Given the description of an element on the screen output the (x, y) to click on. 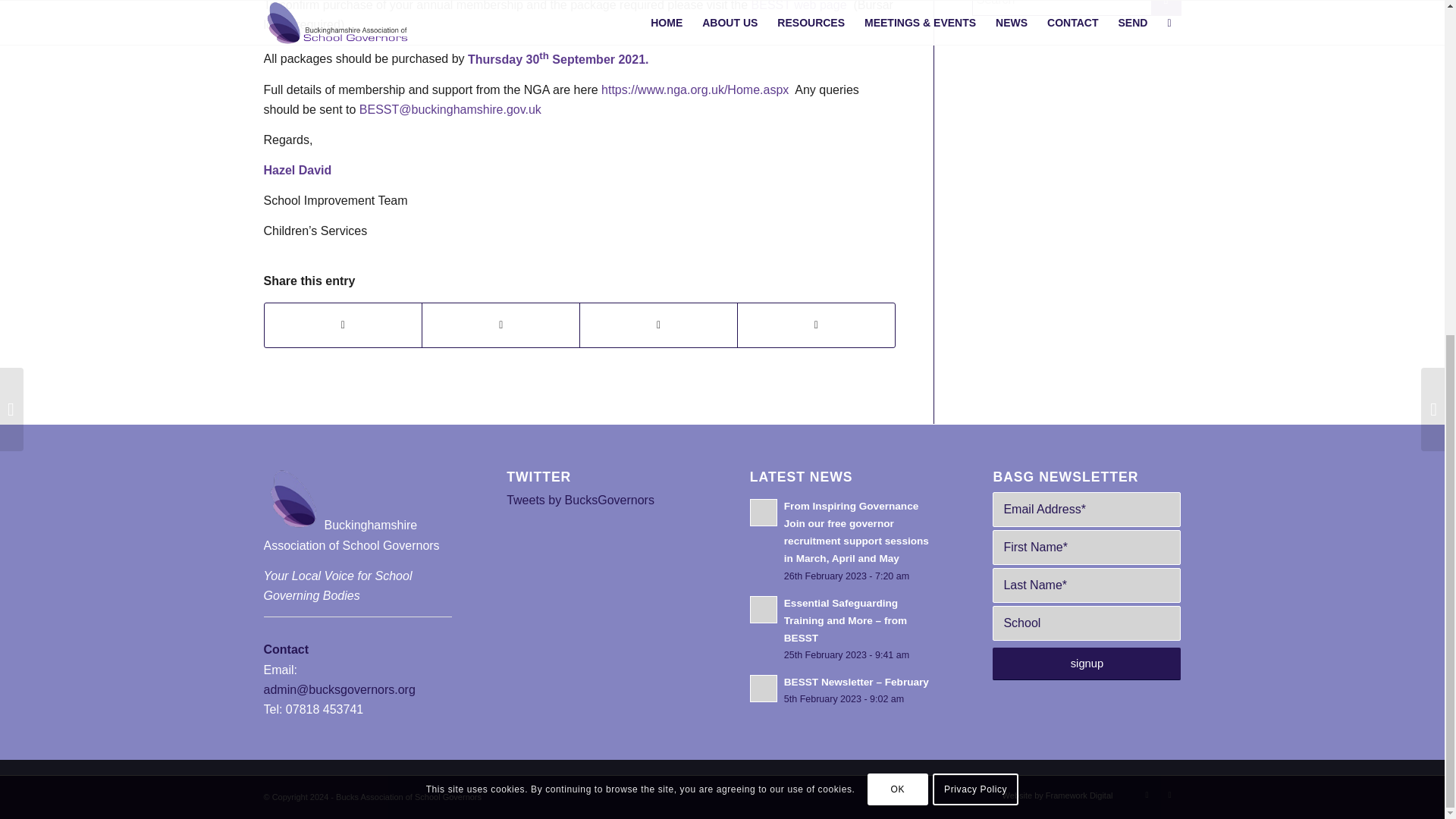
Facebook (1169, 793)
BESST web page (800, 5)
signup (1086, 663)
Twitter (1146, 793)
Tweets by BucksGovernors (579, 499)
